Given the description of an element on the screen output the (x, y) to click on. 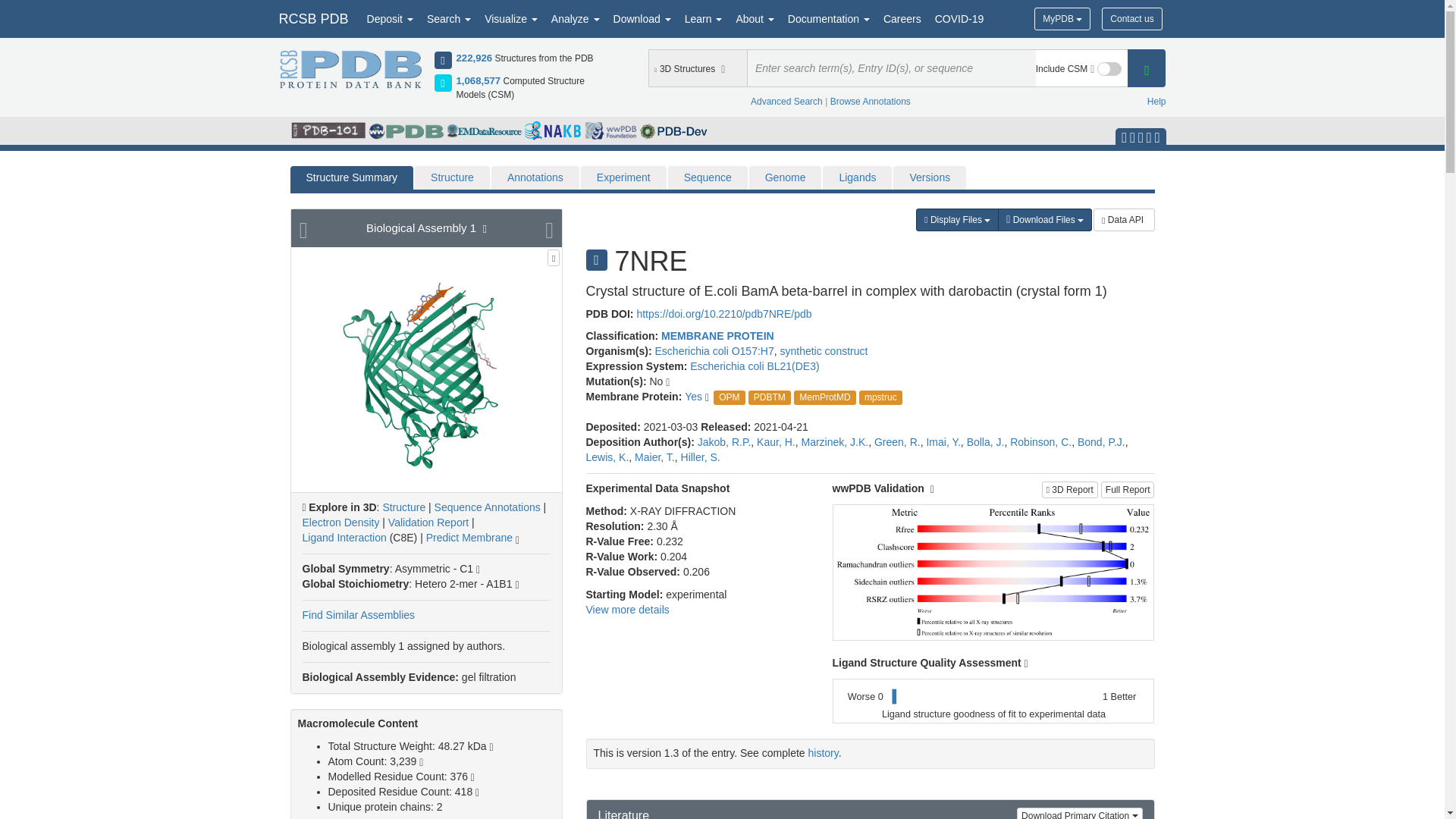
MyPDB (1061, 18)
RCSB PDB (312, 18)
Search  (448, 18)
Deposit  (389, 18)
